Given the description of an element on the screen output the (x, y) to click on. 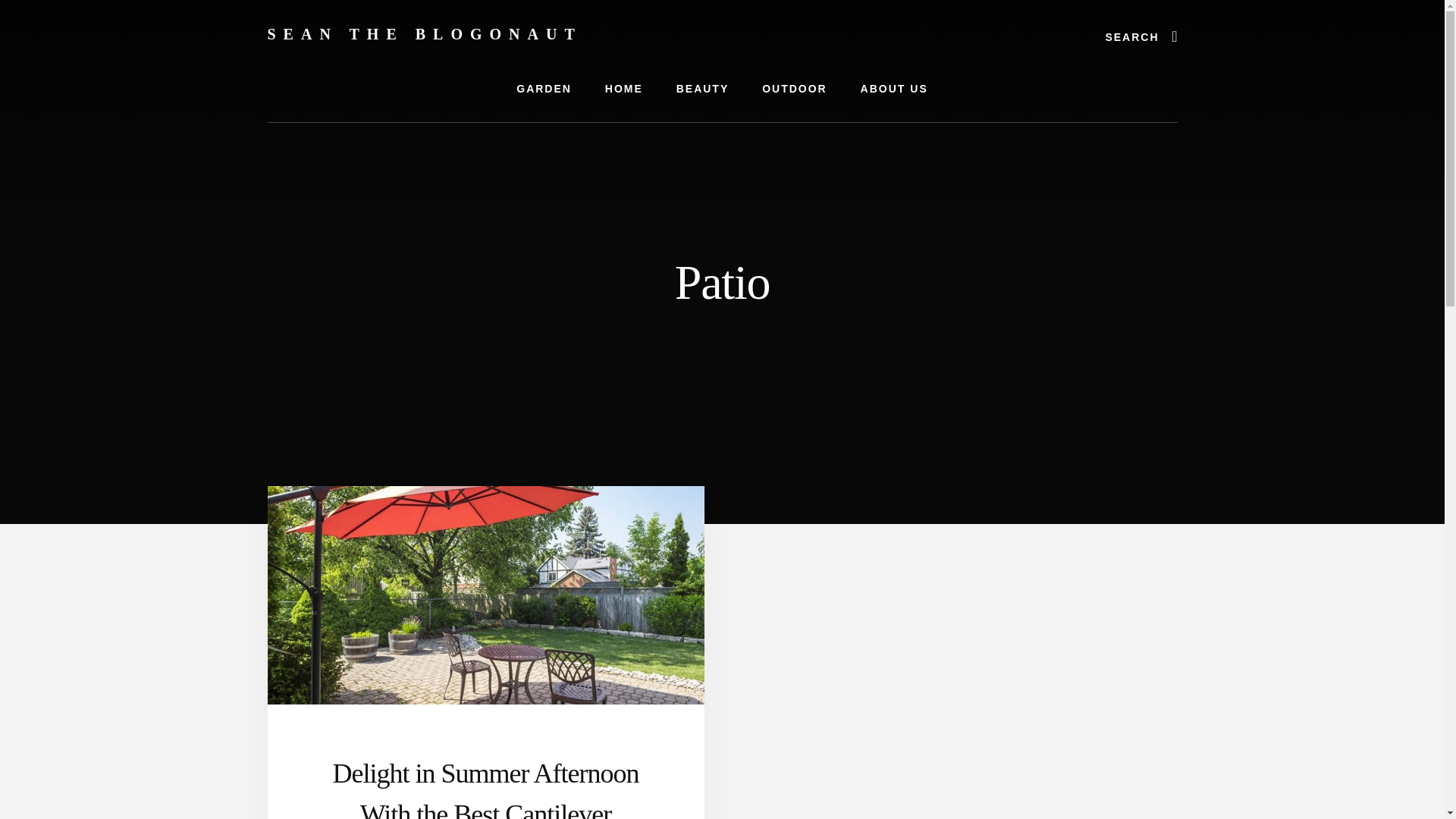
HOME (623, 89)
BEAUTY (702, 89)
ABOUT US (894, 89)
SEAN THE BLOGONAUT (423, 33)
OUTDOOR (794, 89)
GARDEN (543, 89)
